Given the description of an element on the screen output the (x, y) to click on. 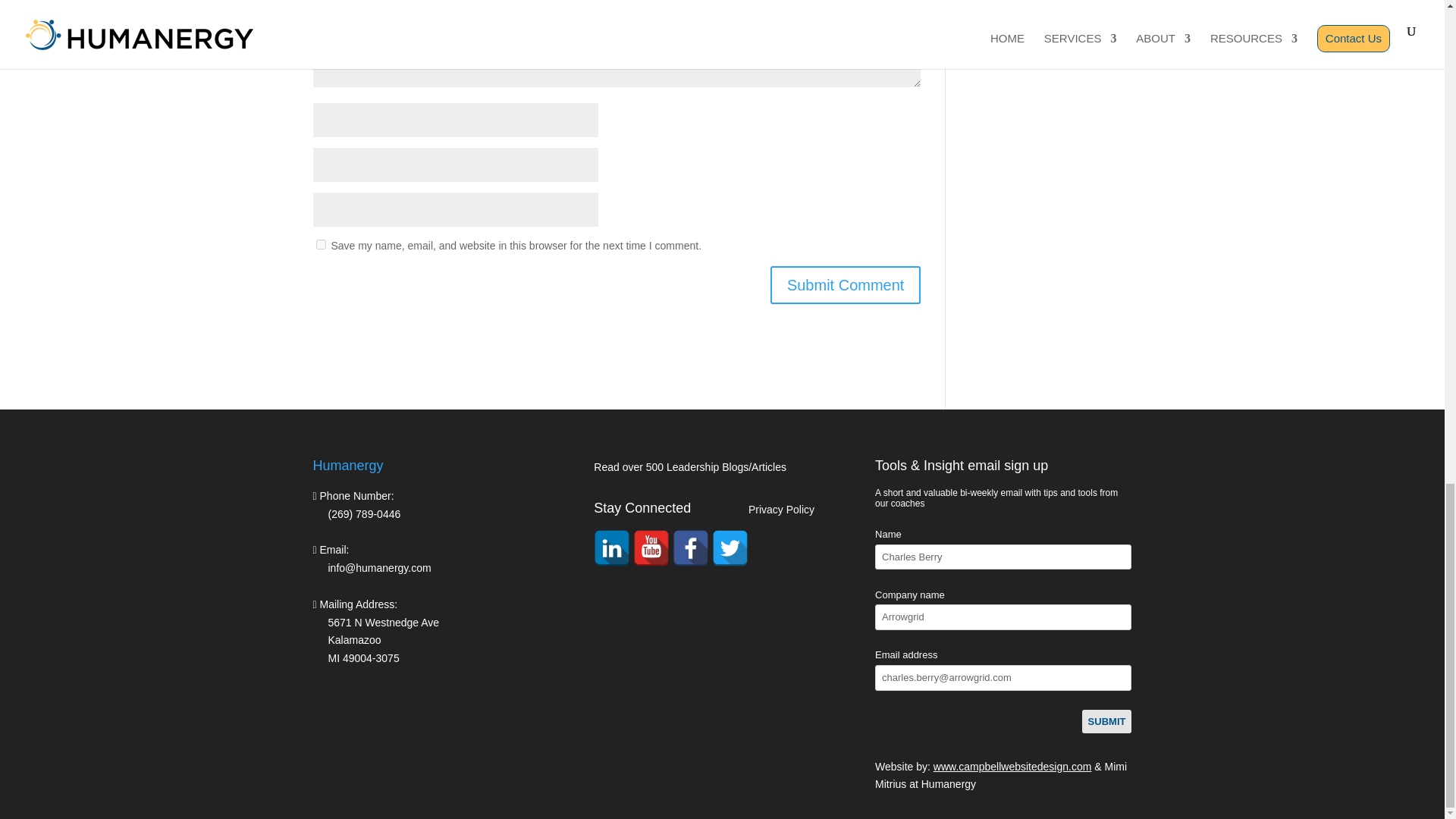
LinkedIn (612, 547)
yes (319, 244)
SUBMIT (1106, 721)
Submit Comment (845, 284)
